Given the description of an element on the screen output the (x, y) to click on. 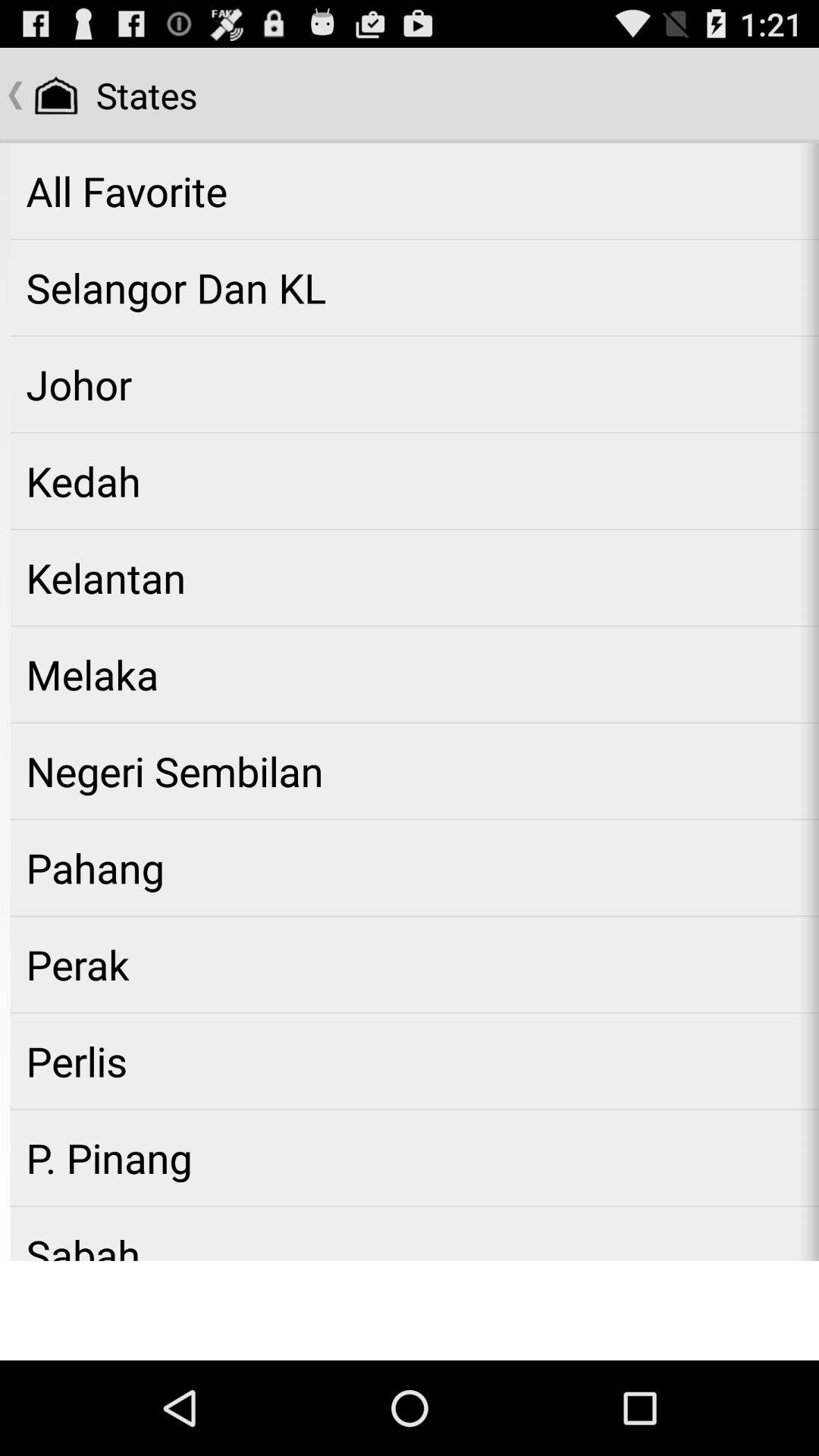
turn off app below selangor dan kl icon (414, 384)
